Given the description of an element on the screen output the (x, y) to click on. 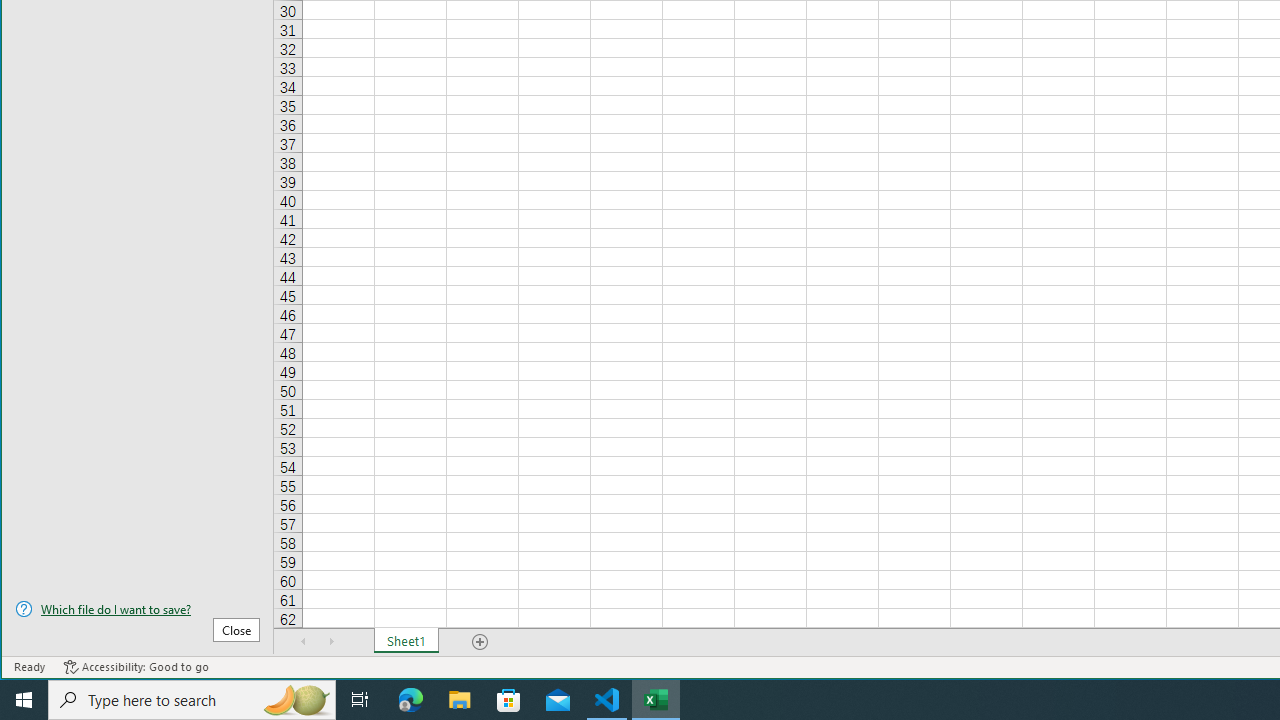
Search highlights icon opens search home window (295, 699)
Excel - 1 running window (656, 699)
